Given the description of an element on the screen output the (x, y) to click on. 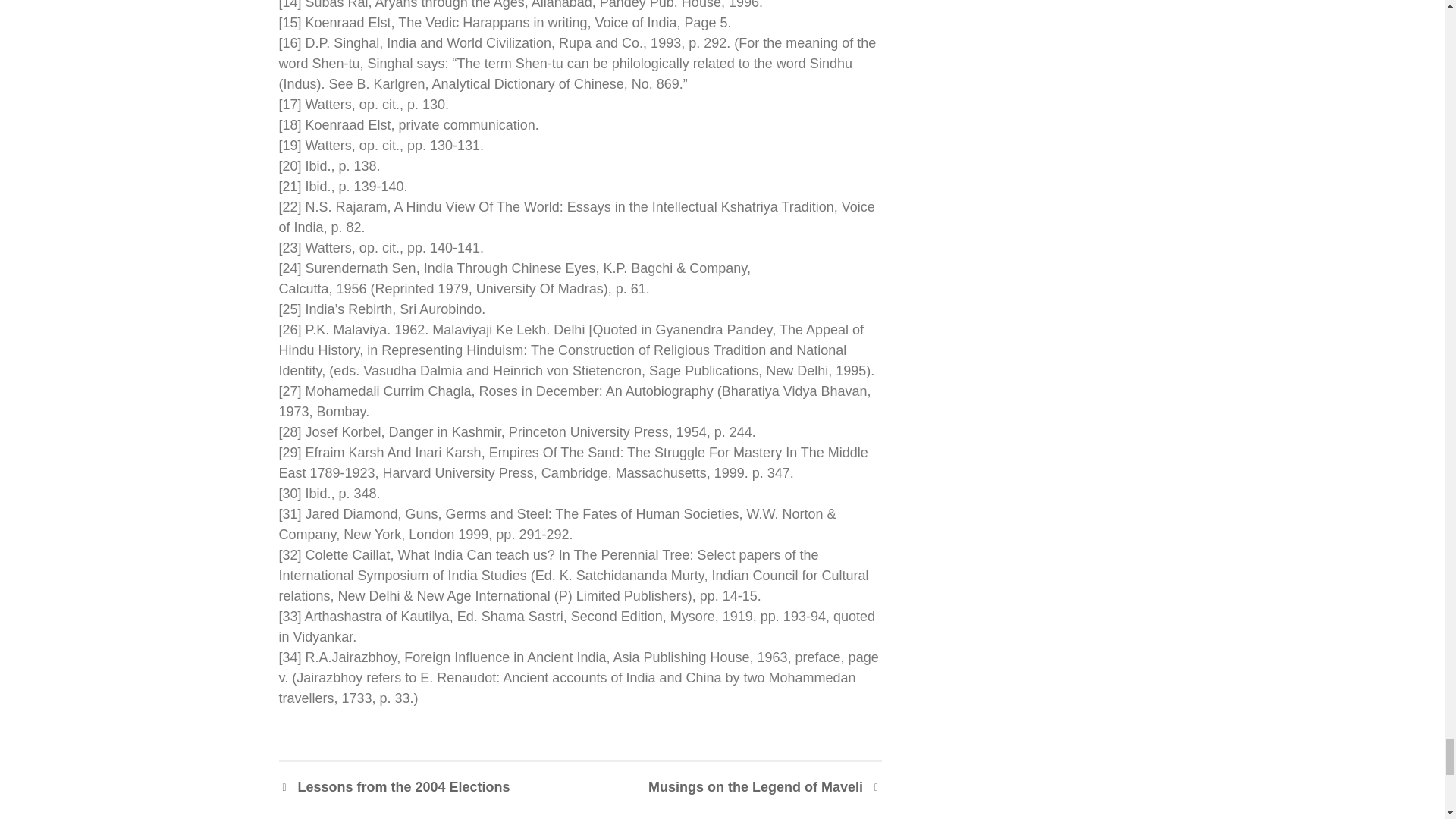
Lessons from the 2004 Elections (395, 787)
Musings on the Legend of Maveli (764, 787)
